Given the description of an element on the screen output the (x, y) to click on. 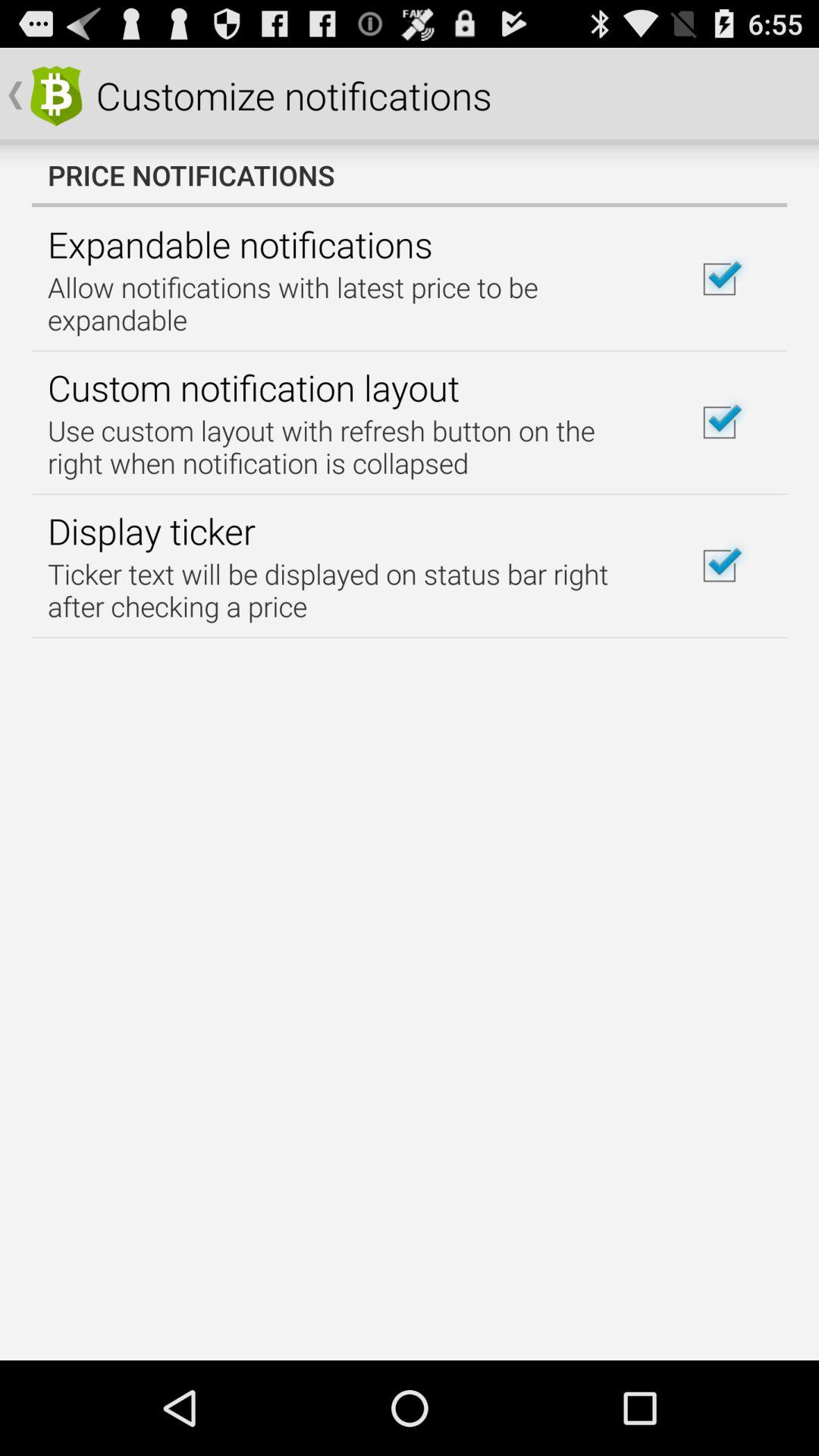
click the display ticker item (151, 530)
